Given the description of an element on the screen output the (x, y) to click on. 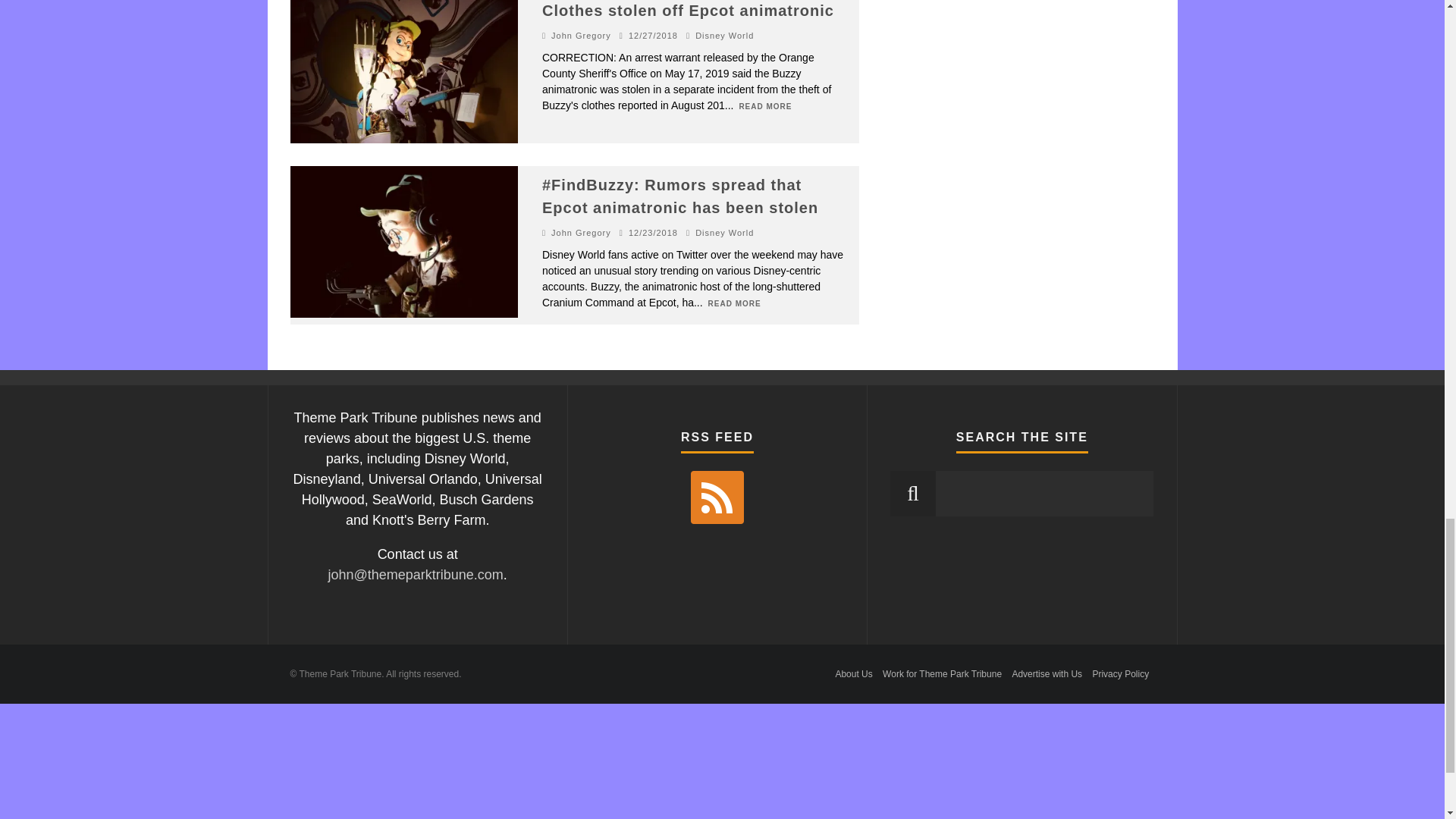
View all posts in Disney World (724, 35)
